Given the description of an element on the screen output the (x, y) to click on. 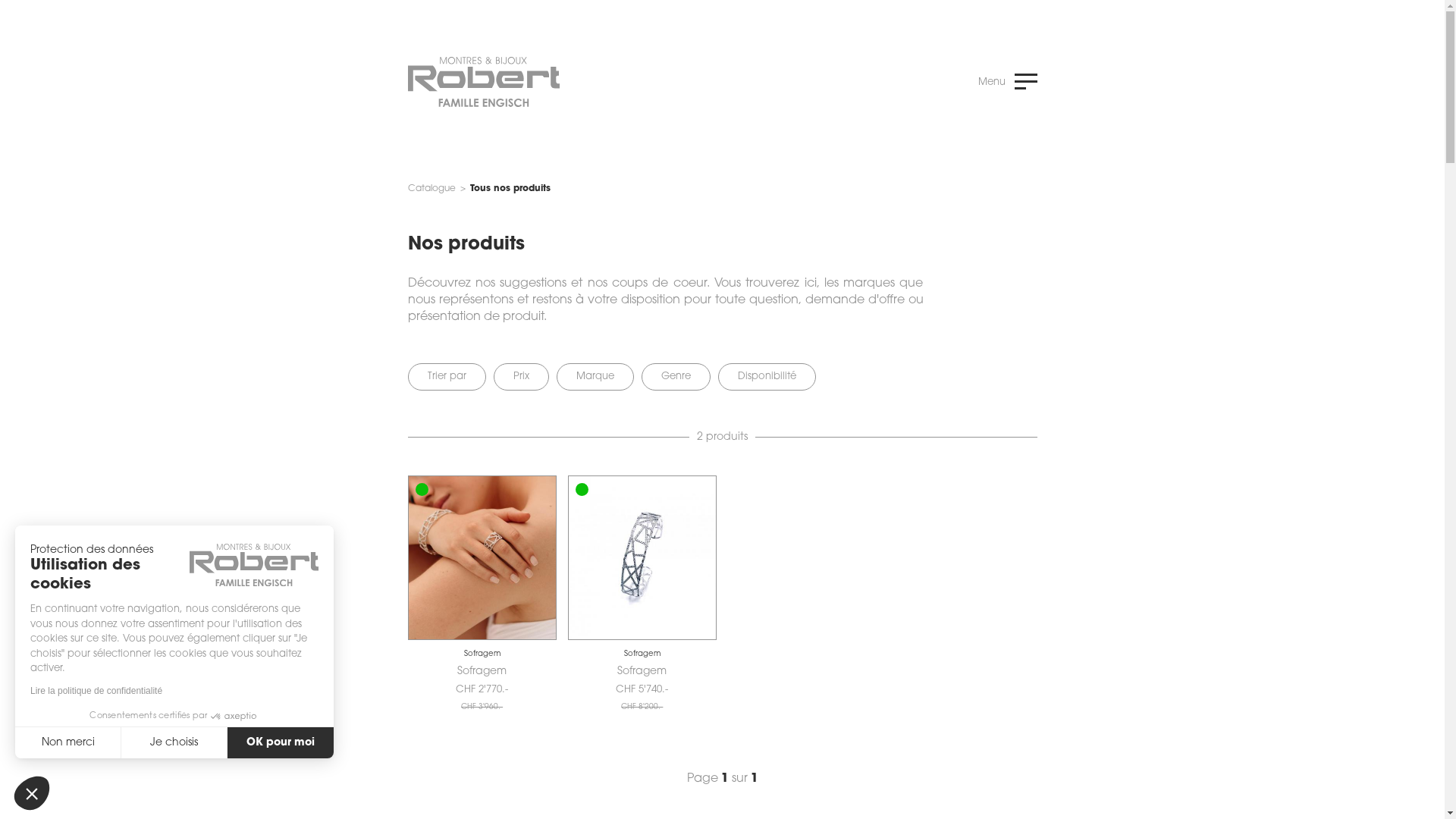
Je choisis Element type: text (174, 742)
Trier par Element type: text (446, 376)
OK pour moi Element type: text (280, 742)
Non merci Element type: text (68, 742)
Sofragem
Sofragem
CHF 2'770.-
CHF 3'960.- Element type: text (481, 670)
Sofragem
Sofragem
CHF 5'740.-
CHF 8'200.- Element type: text (641, 670)
Tous nos produits Element type: text (510, 188)
Genre Element type: text (675, 376)
Menu Element type: text (1007, 87)
Fermer le widget sans consentement Element type: hover (31, 793)
Catalogue Element type: text (431, 188)
Prix Element type: text (520, 376)
Marque Element type: text (594, 376)
